Given the description of an element on the screen output the (x, y) to click on. 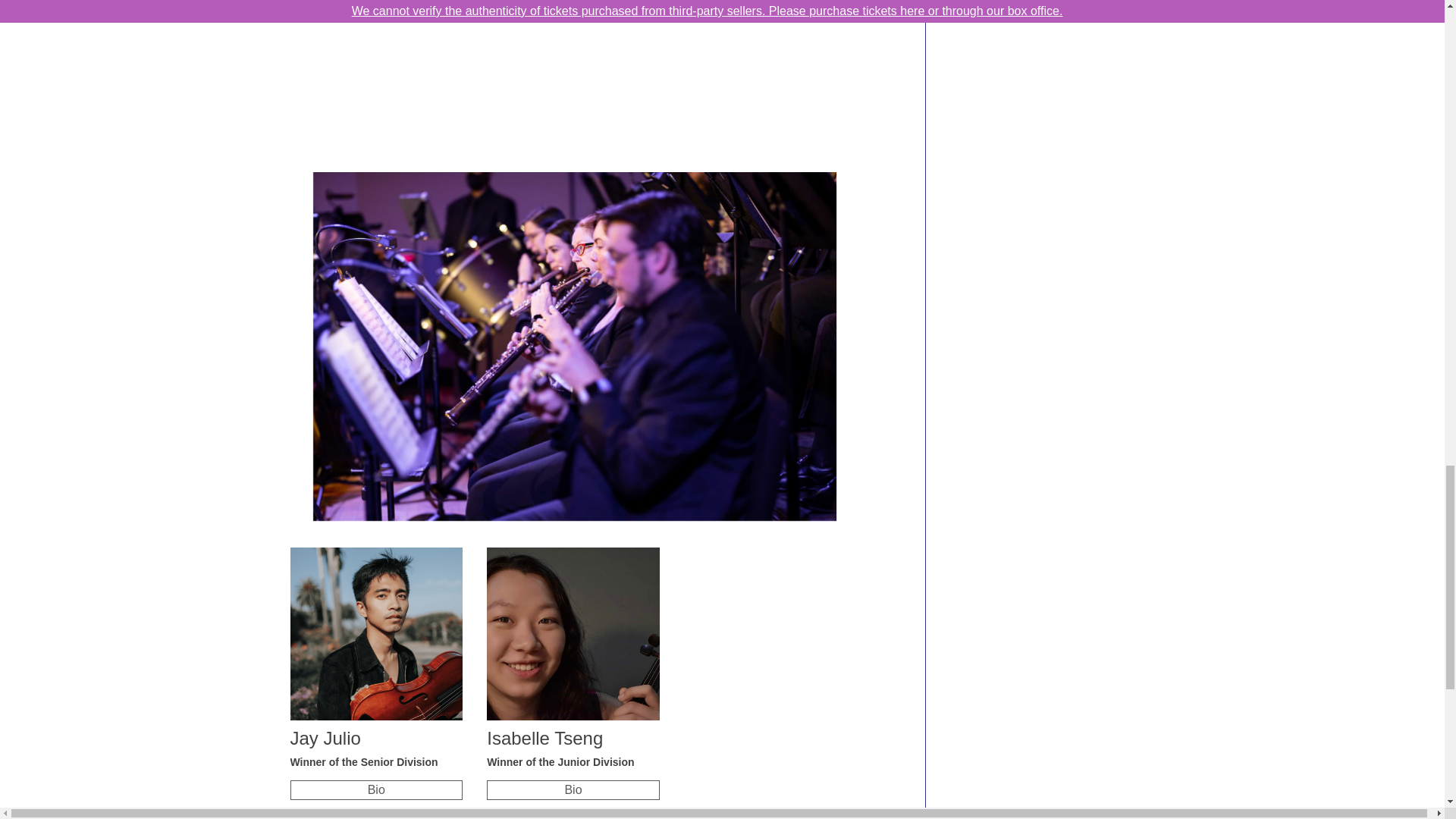
Bio (375, 790)
Bio (572, 790)
